Given the description of an element on the screen output the (x, y) to click on. 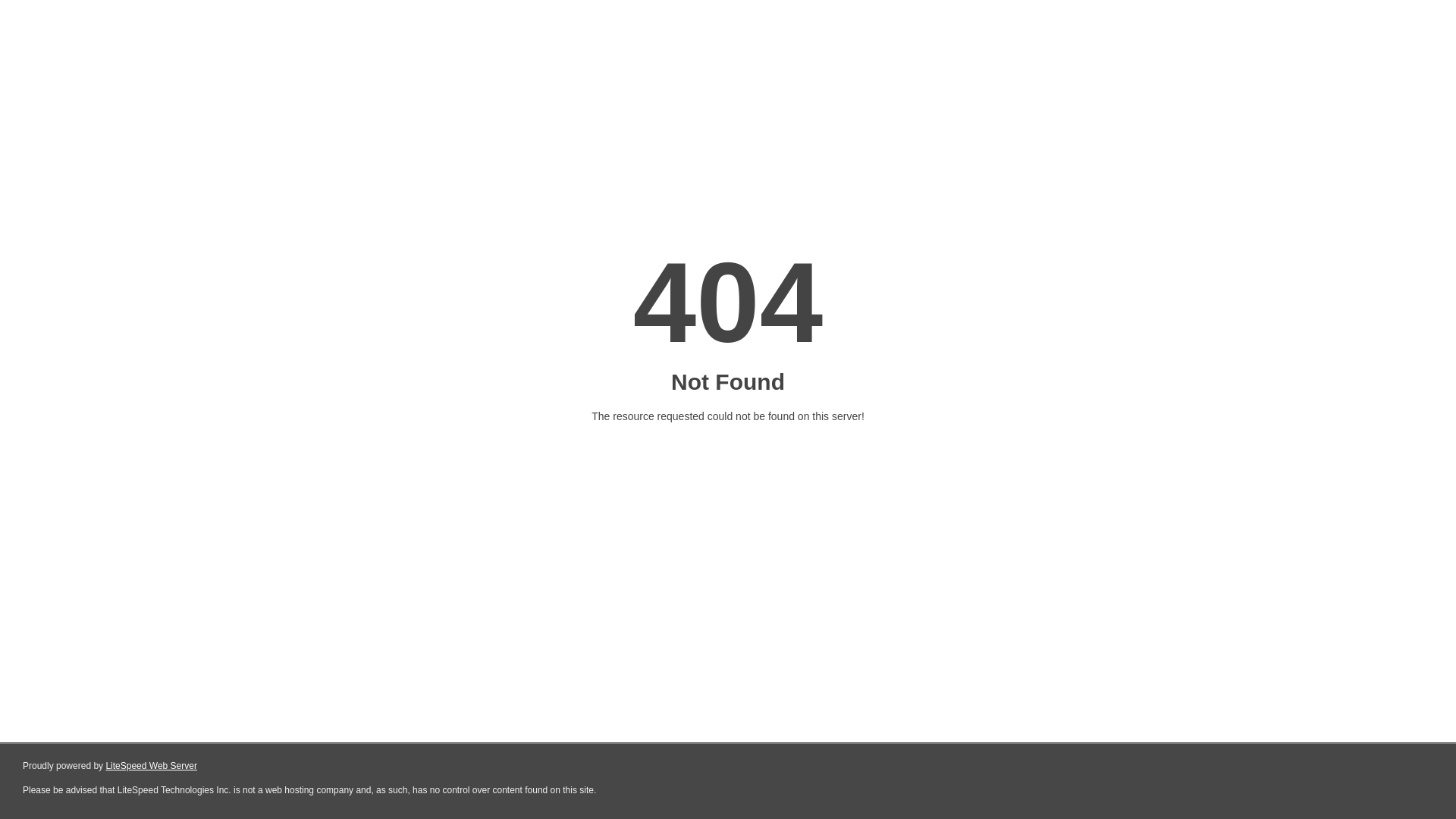
LiteSpeed Web Server Element type: text (151, 765)
